Given the description of an element on the screen output the (x, y) to click on. 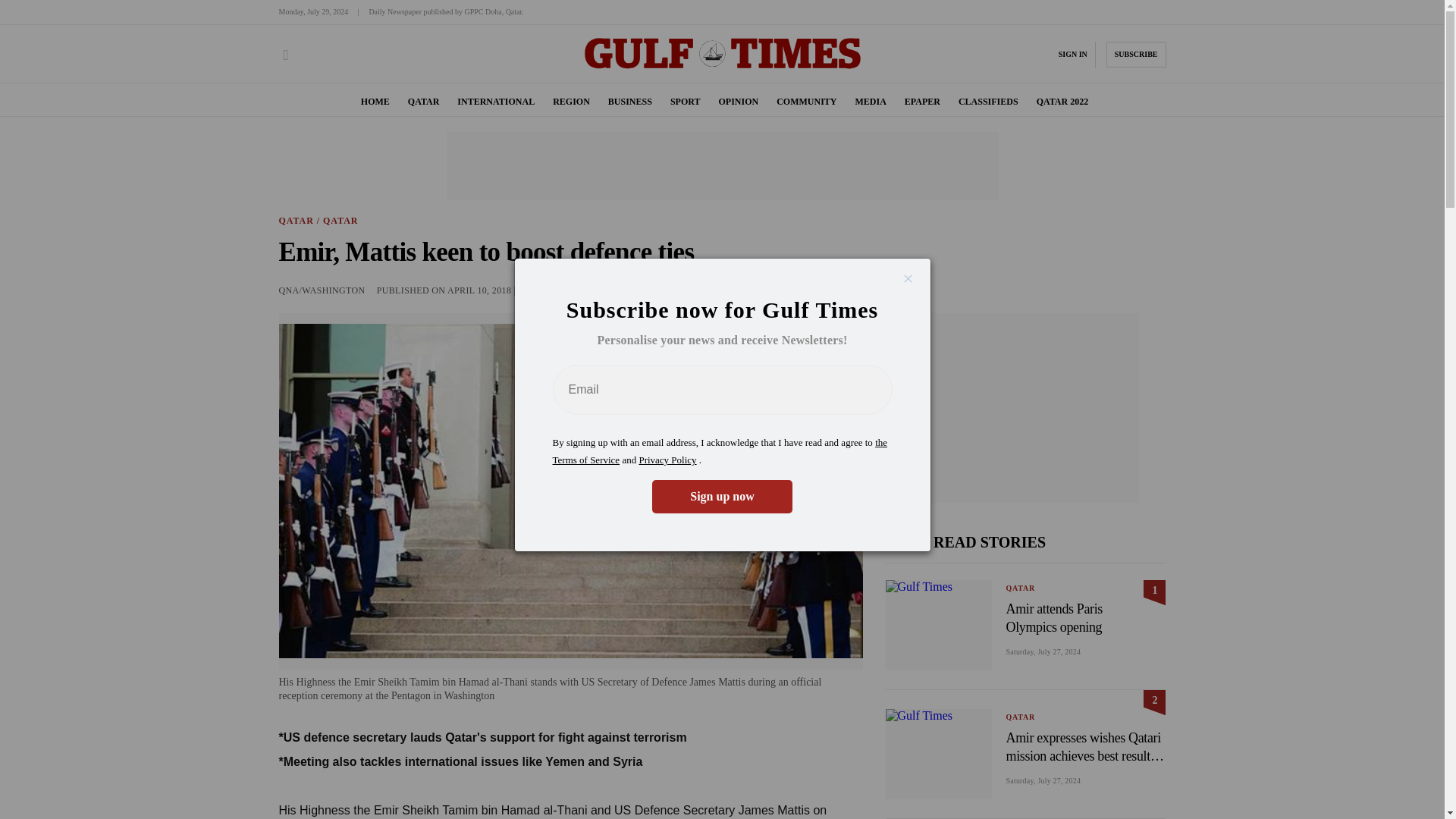
Amir attends Paris Olympics opening (1073, 617)
CLASSIFIEDS (987, 101)
COMMUNITY (805, 101)
HOME (375, 101)
MEDIA (869, 101)
SUBSCRIBE (1136, 54)
Gulf Times (721, 67)
CLASSIFIEDS (987, 101)
INTERNATIONAL (495, 101)
INTERNATIONAL (495, 101)
BUSINESS (630, 101)
twitter share (825, 290)
QATAR (423, 101)
QATAR (1020, 587)
REGION (571, 101)
